Given the description of an element on the screen output the (x, y) to click on. 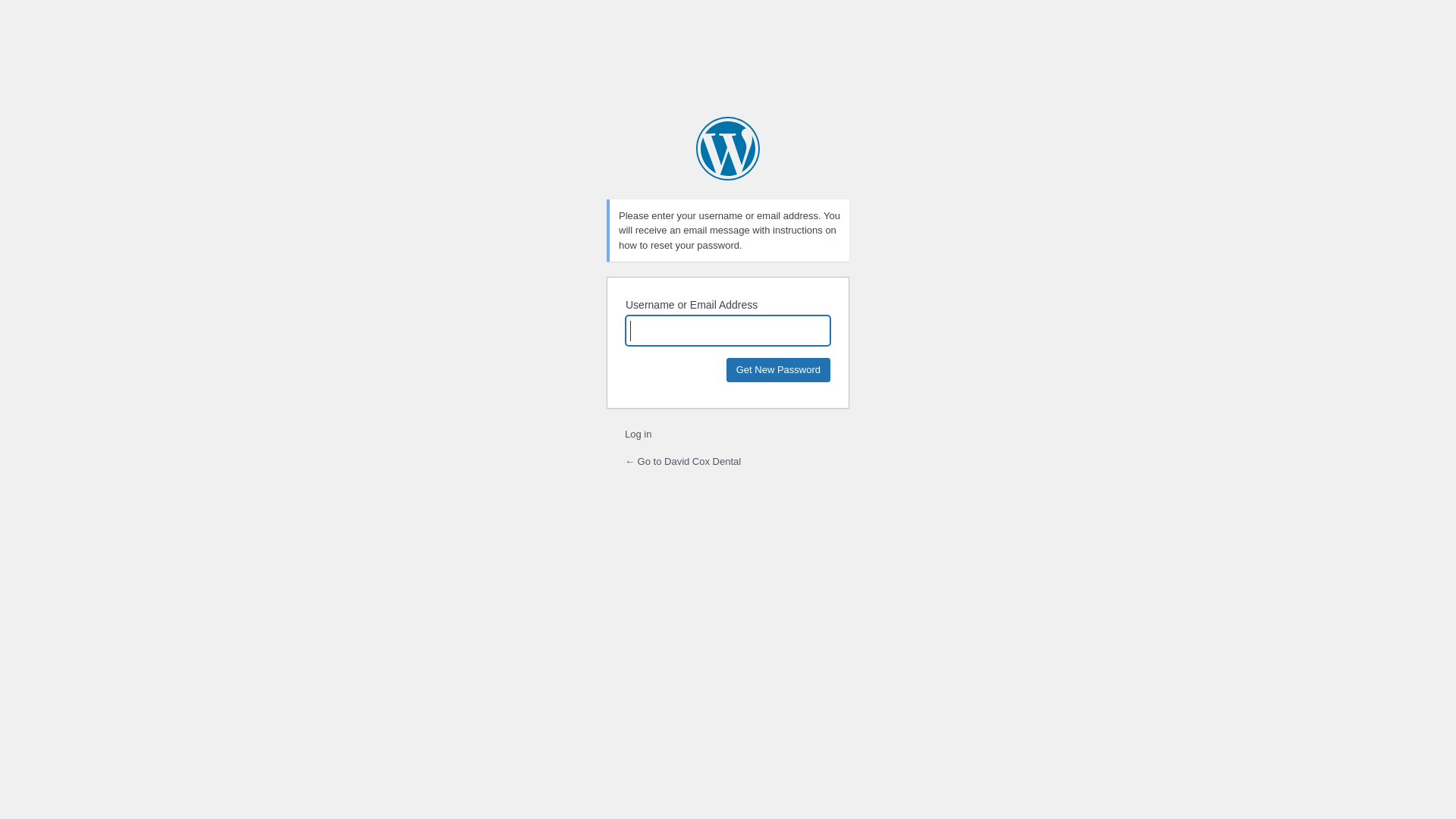
Powered by WordPress Element type: text (727, 148)
Get New Password Element type: text (778, 369)
Log in Element type: text (637, 433)
